Given the description of an element on the screen output the (x, y) to click on. 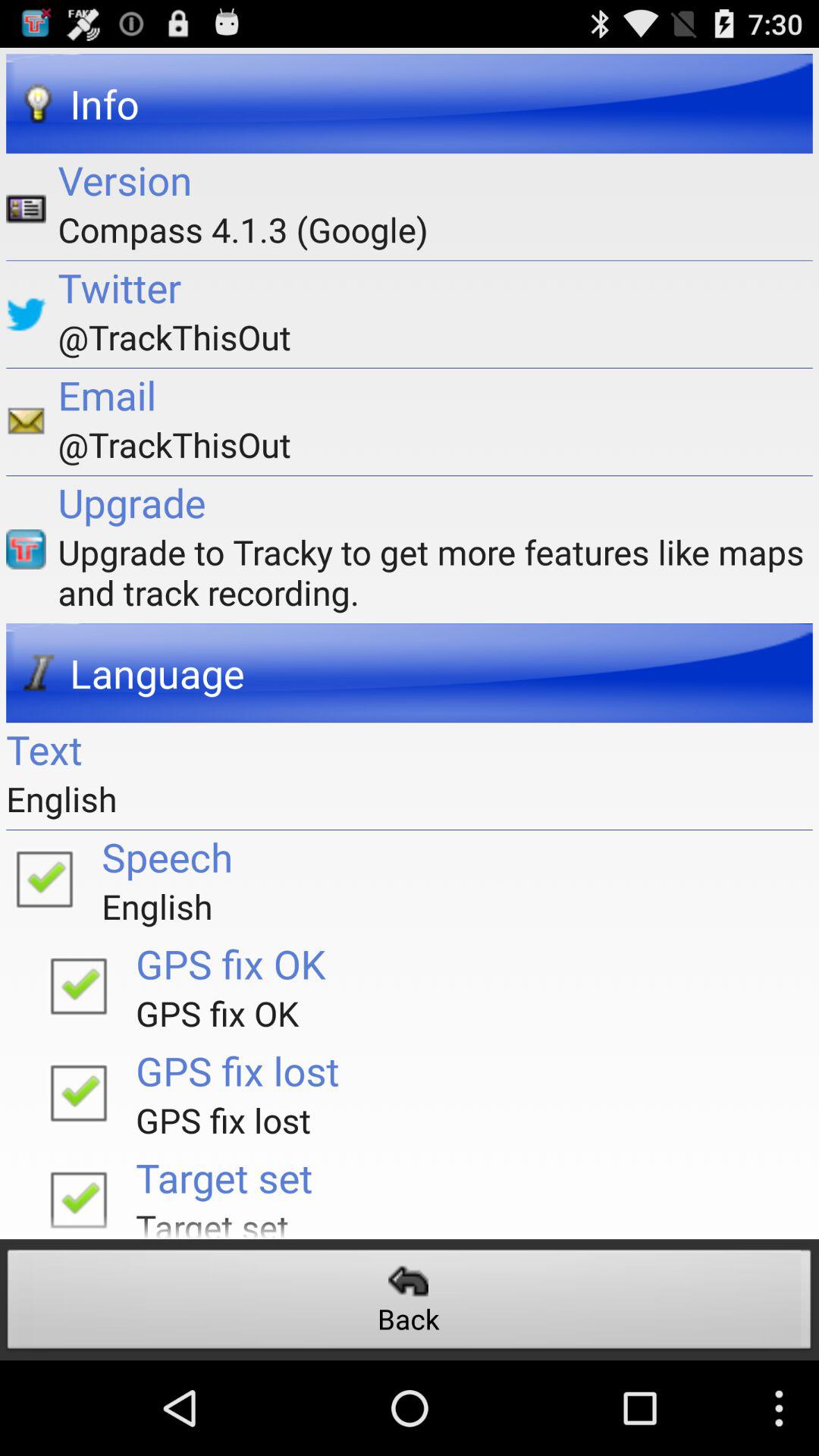
turn off the icon at the bottom (409, 1303)
